Given the description of an element on the screen output the (x, y) to click on. 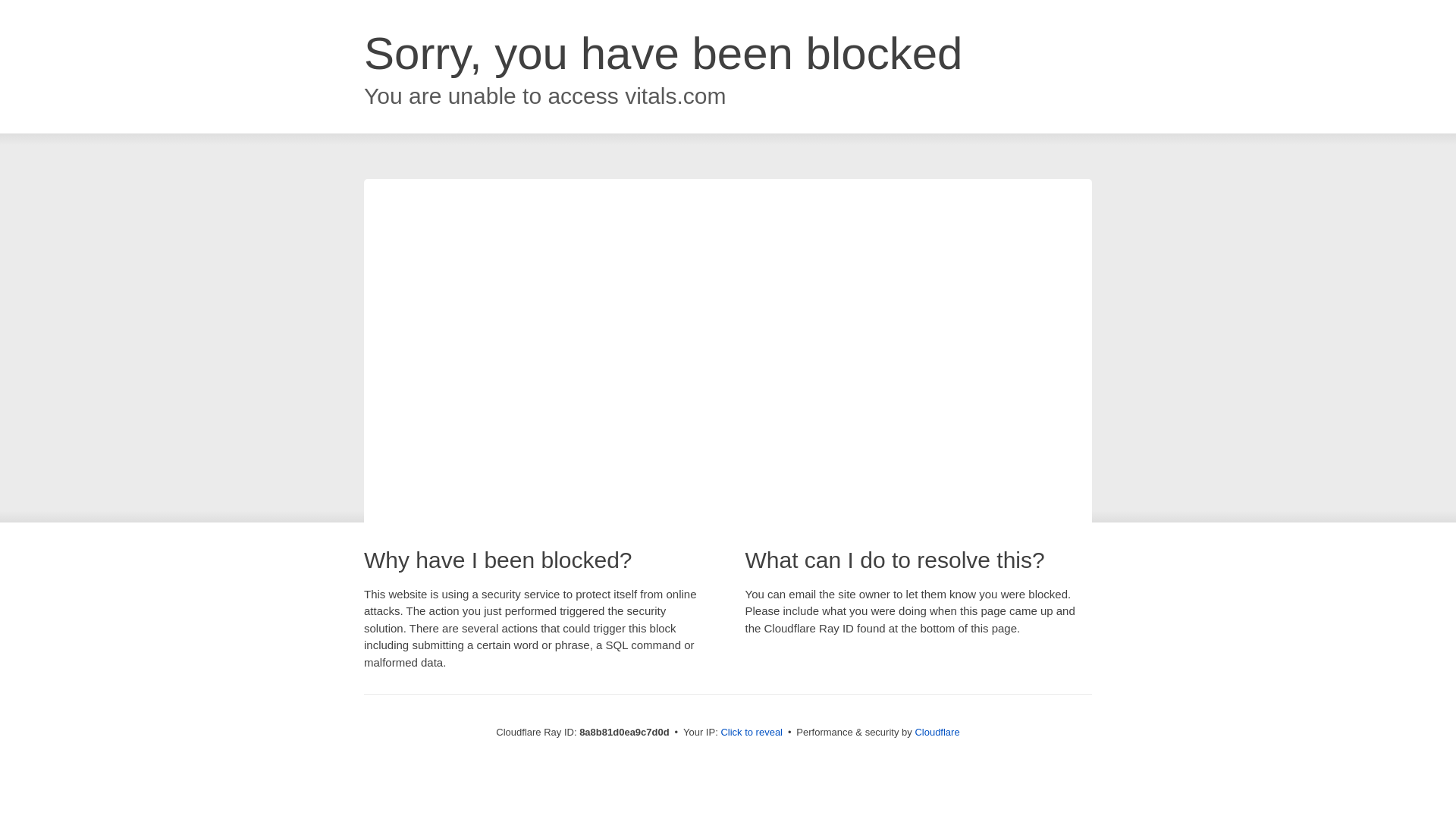
Click to reveal (751, 732)
Cloudflare (936, 731)
